Given the description of an element on the screen output the (x, y) to click on. 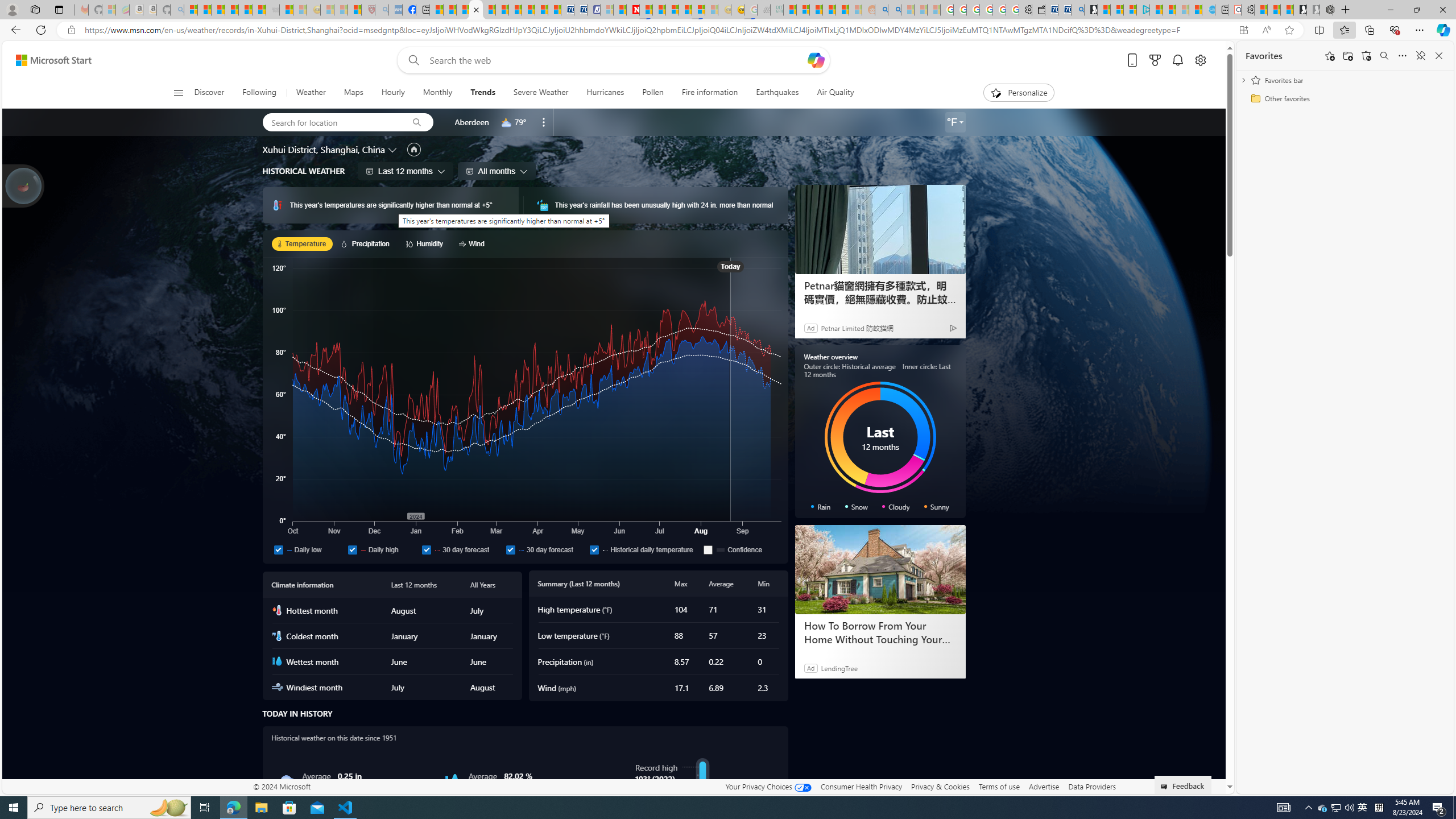
Hurricanes (604, 92)
Temperature (301, 243)
Data Providers (1091, 785)
Severe Weather (540, 92)
Wallet (1037, 9)
Monthly (437, 92)
Your Privacy Choices (767, 786)
Maps (353, 92)
